Given the description of an element on the screen output the (x, y) to click on. 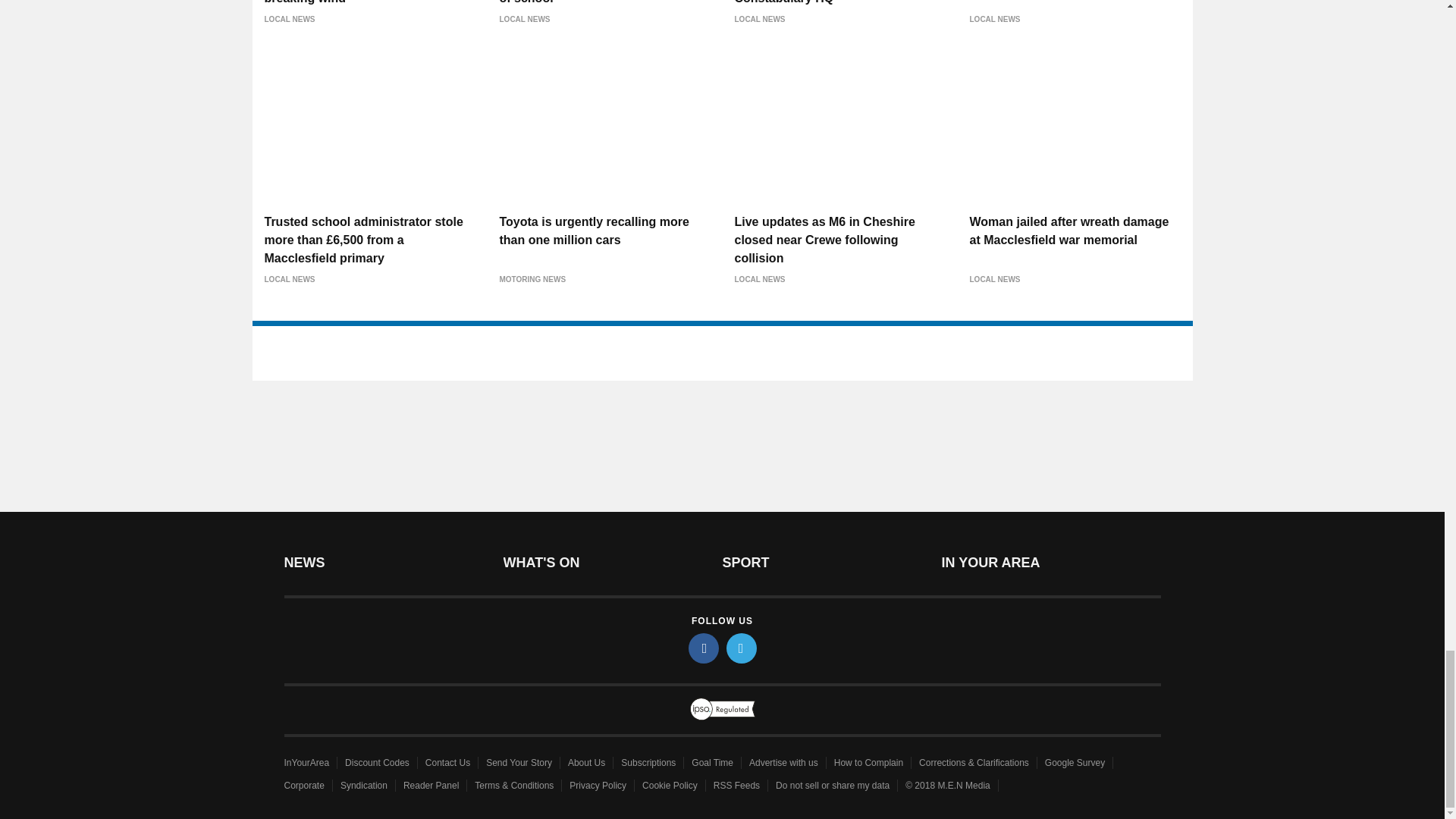
facebook (703, 648)
twitter (741, 648)
